Given the description of an element on the screen output the (x, y) to click on. 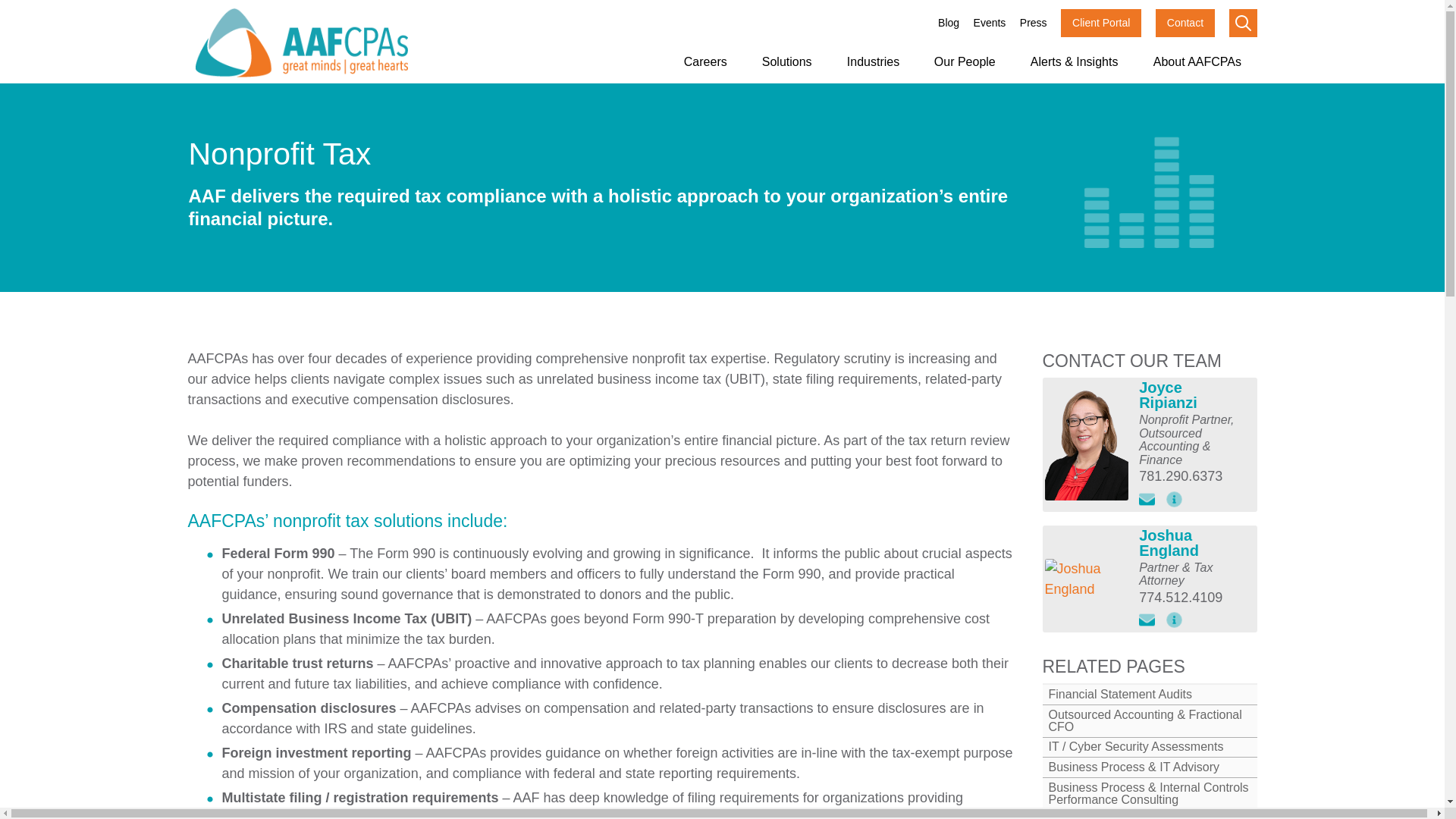
Client Portal (1101, 22)
Press (1033, 22)
Events (990, 22)
Careers (705, 61)
Solutions (786, 61)
Contact (1185, 22)
